Given the description of an element on the screen output the (x, y) to click on. 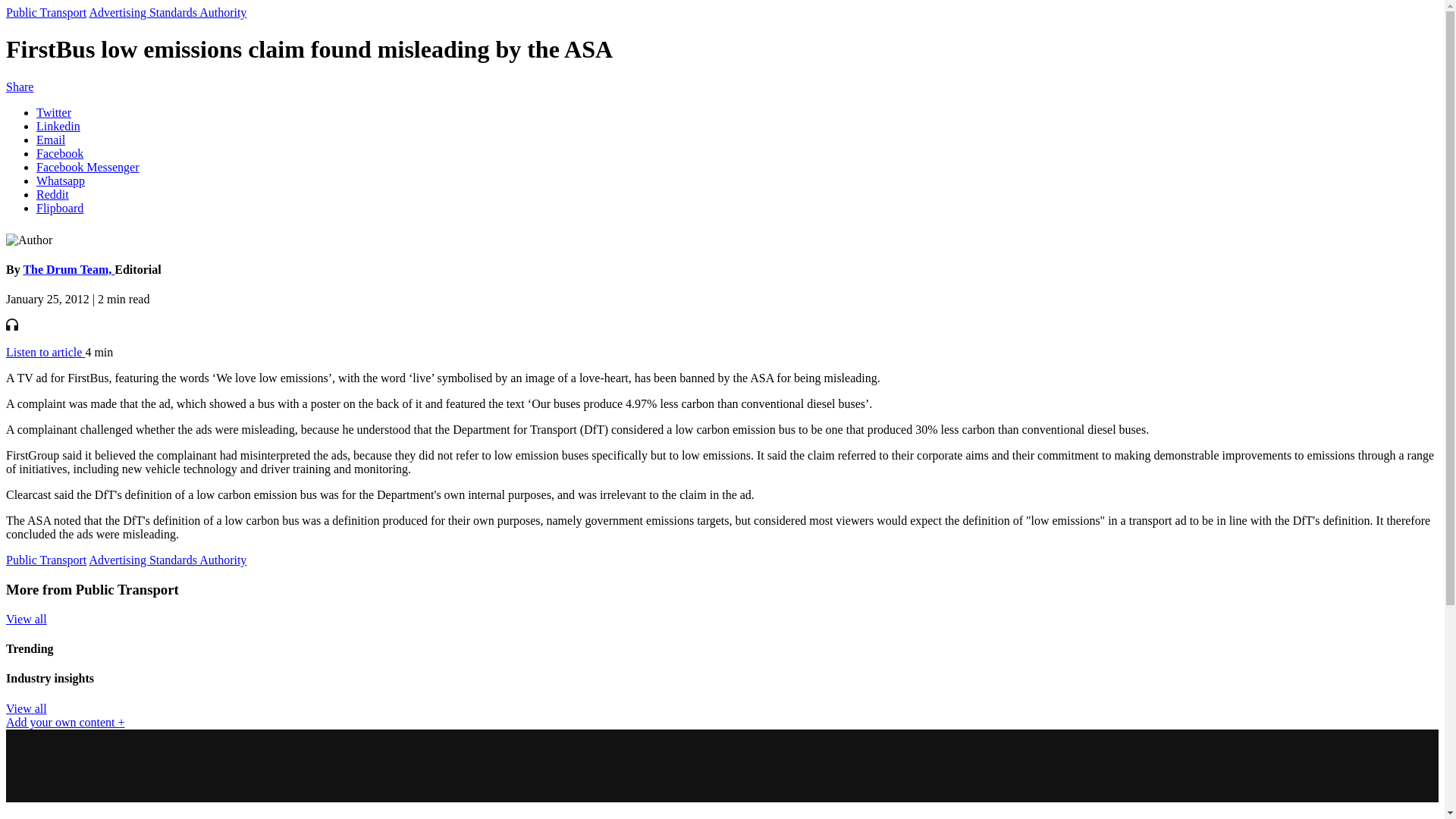
Facebook Messenger (87, 166)
Reddit (52, 194)
View all (25, 707)
Email (50, 139)
Listen to article (44, 351)
Twitter (53, 112)
Flipboard (59, 207)
Share (19, 86)
Public Transport (45, 11)
